Given the description of an element on the screen output the (x, y) to click on. 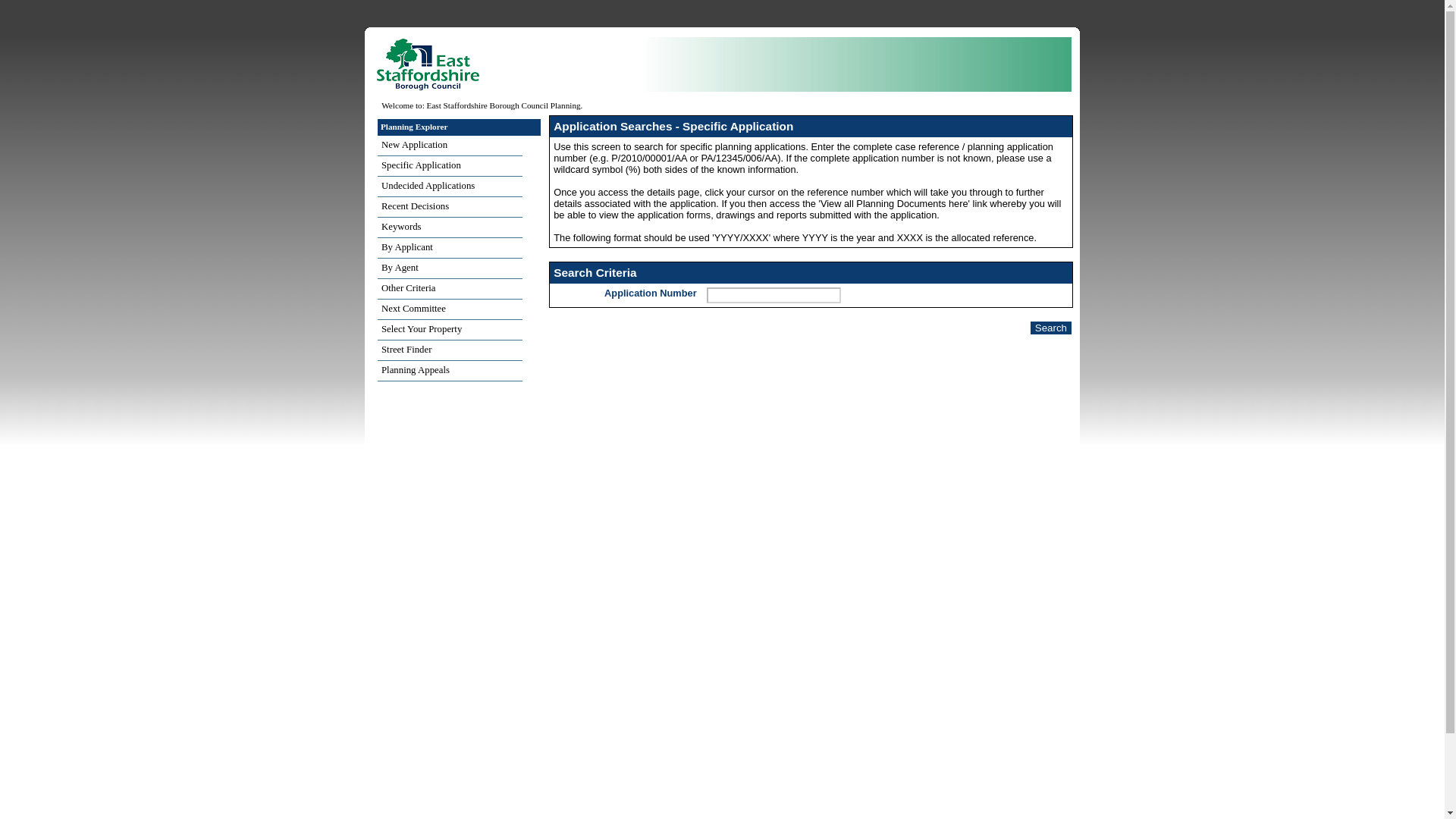
Search for an Application using Other Criteria (449, 289)
Street Finder (449, 350)
Specific Application (449, 166)
Search for an Application by Applicant (449, 248)
By Agent (449, 268)
New Application (449, 145)
Search for Undecided Applications (449, 186)
Keywords (449, 227)
Search for a Planning Appeal (449, 371)
Search for an Application by Agent (449, 268)
Select Your Property (449, 330)
Search for a New Application (449, 145)
Search for Applications that have been Recently Determined (449, 207)
Recent Decisions (449, 207)
Other Criteria (449, 289)
